Given the description of an element on the screen output the (x, y) to click on. 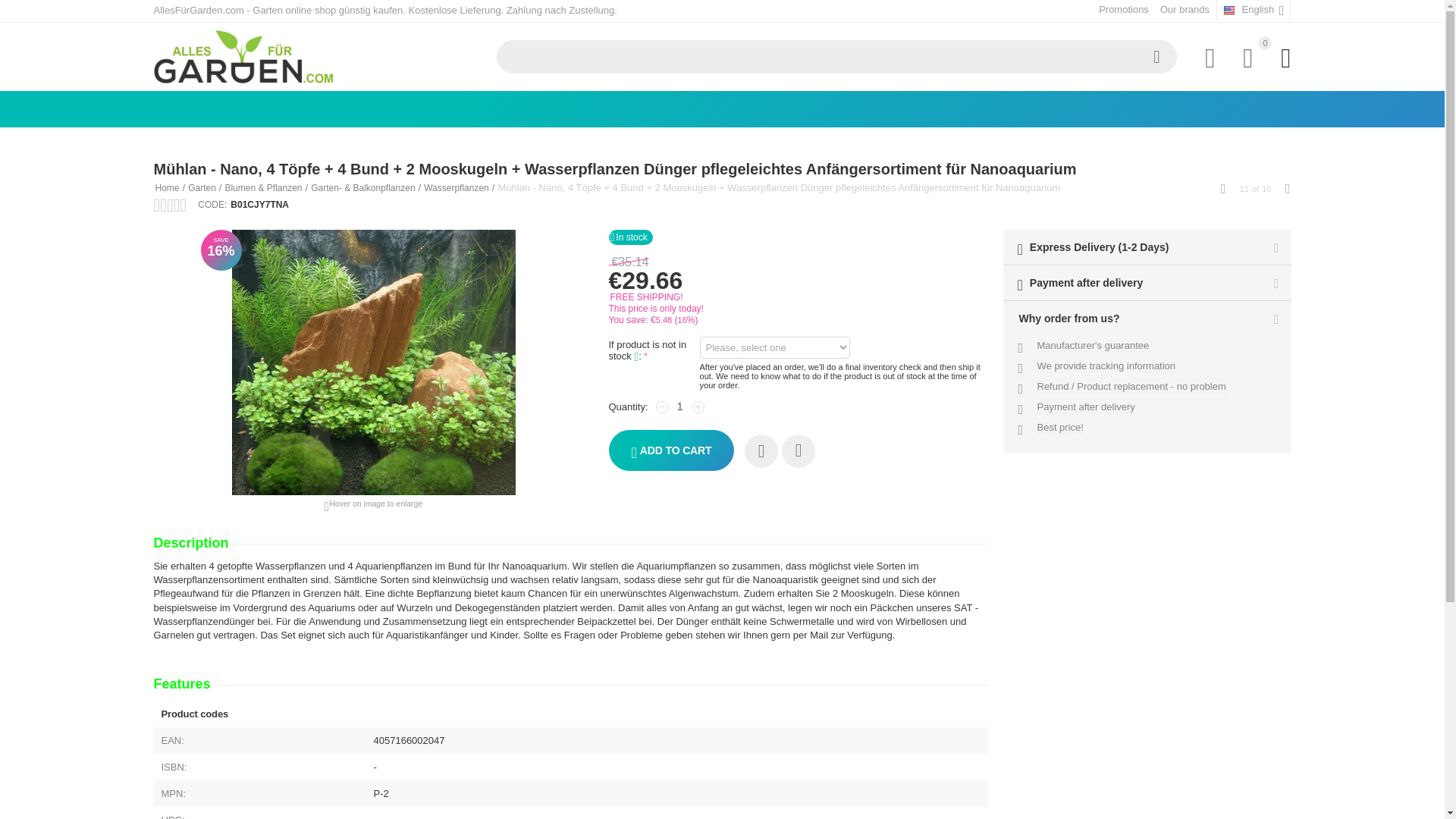
We provide you with best prices only! (1059, 427)
Our brands (1184, 9)
Search products (836, 56)
Promotions (1123, 9)
1 (680, 406)
The guarantee for all products in our store is 12 months. (1093, 345)
Search (1156, 56)
English (1253, 10)
Pay your order after delivery within 14 days timeframe. (1085, 407)
